Given the description of an element on the screen output the (x, y) to click on. 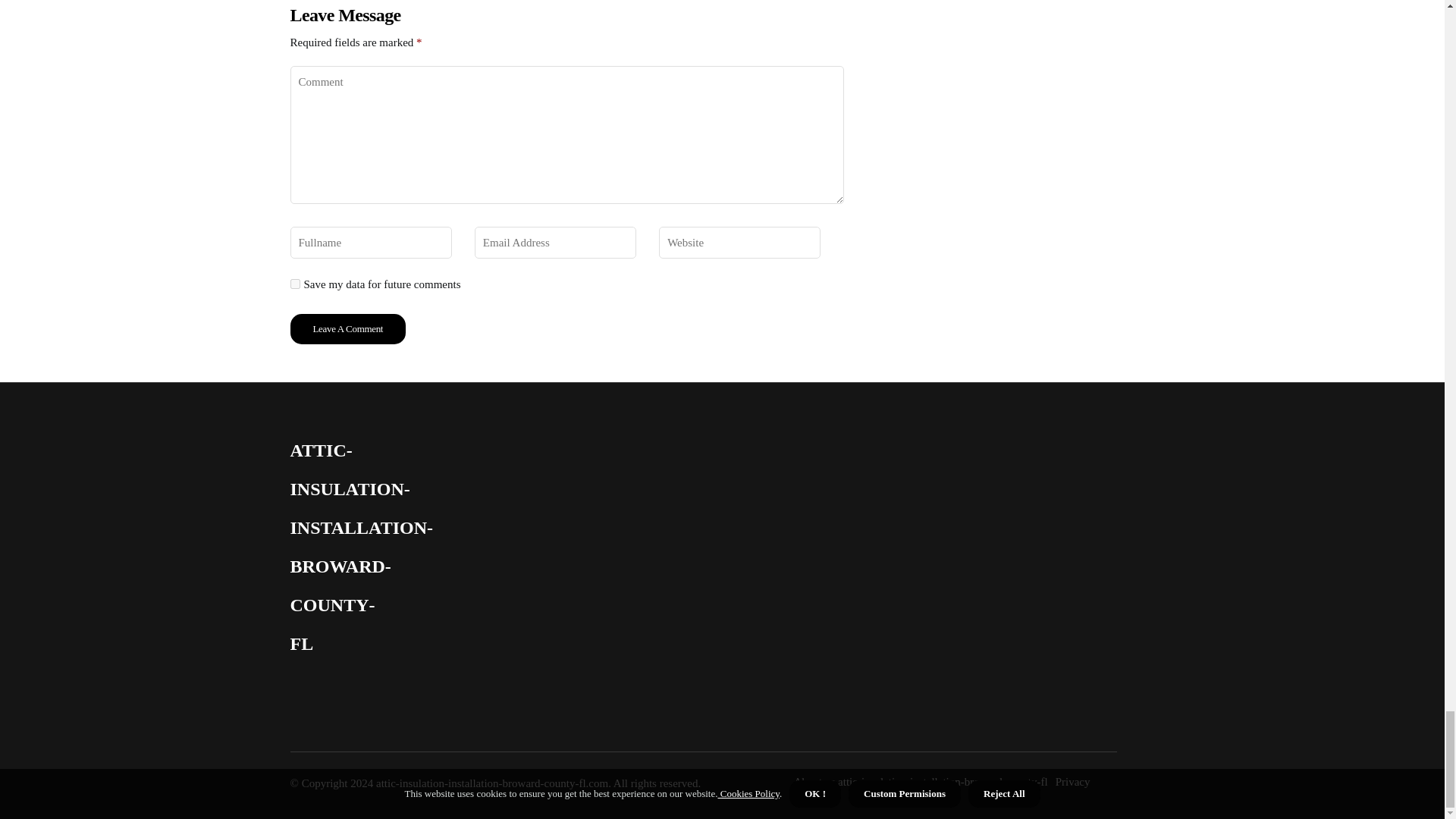
Leave a Comment (347, 328)
yes (294, 284)
Leave a Comment (347, 328)
